Given the description of an element on the screen output the (x, y) to click on. 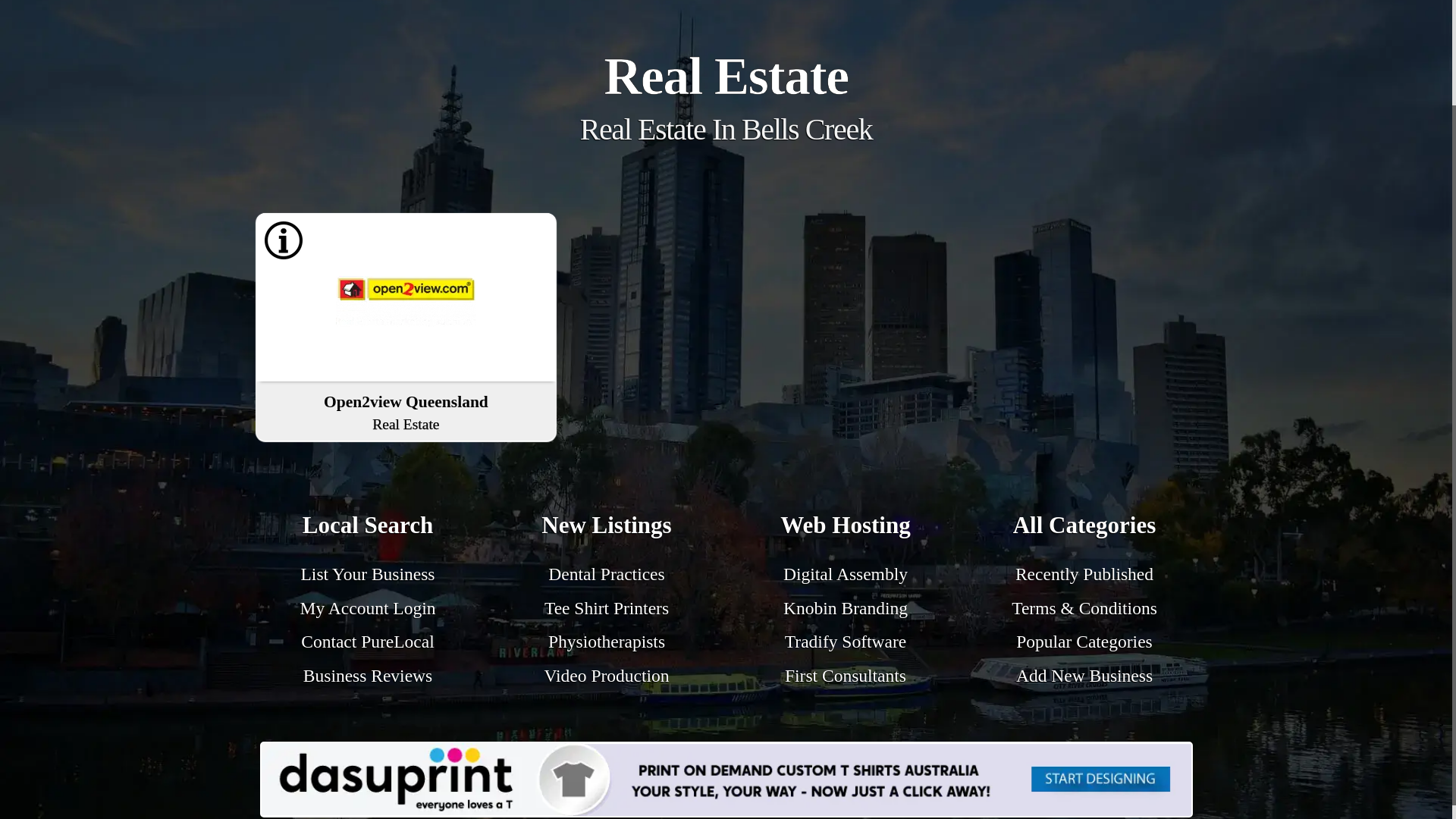
Web Hosting (845, 527)
Tee Shirt Printers (606, 608)
Local Search (367, 527)
Recently Published (1083, 573)
Knobin Branding (845, 608)
List Your Business (368, 573)
Business Reviews (367, 675)
First Consultants (844, 675)
My Account Login (367, 608)
Popular Categories (1083, 641)
Digital Assembly (845, 573)
All Categories (1084, 527)
Contact PureLocal (367, 641)
Premium Web Hosting in Australia (845, 527)
Physiotherapists (606, 641)
